Given the description of an element on the screen output the (x, y) to click on. 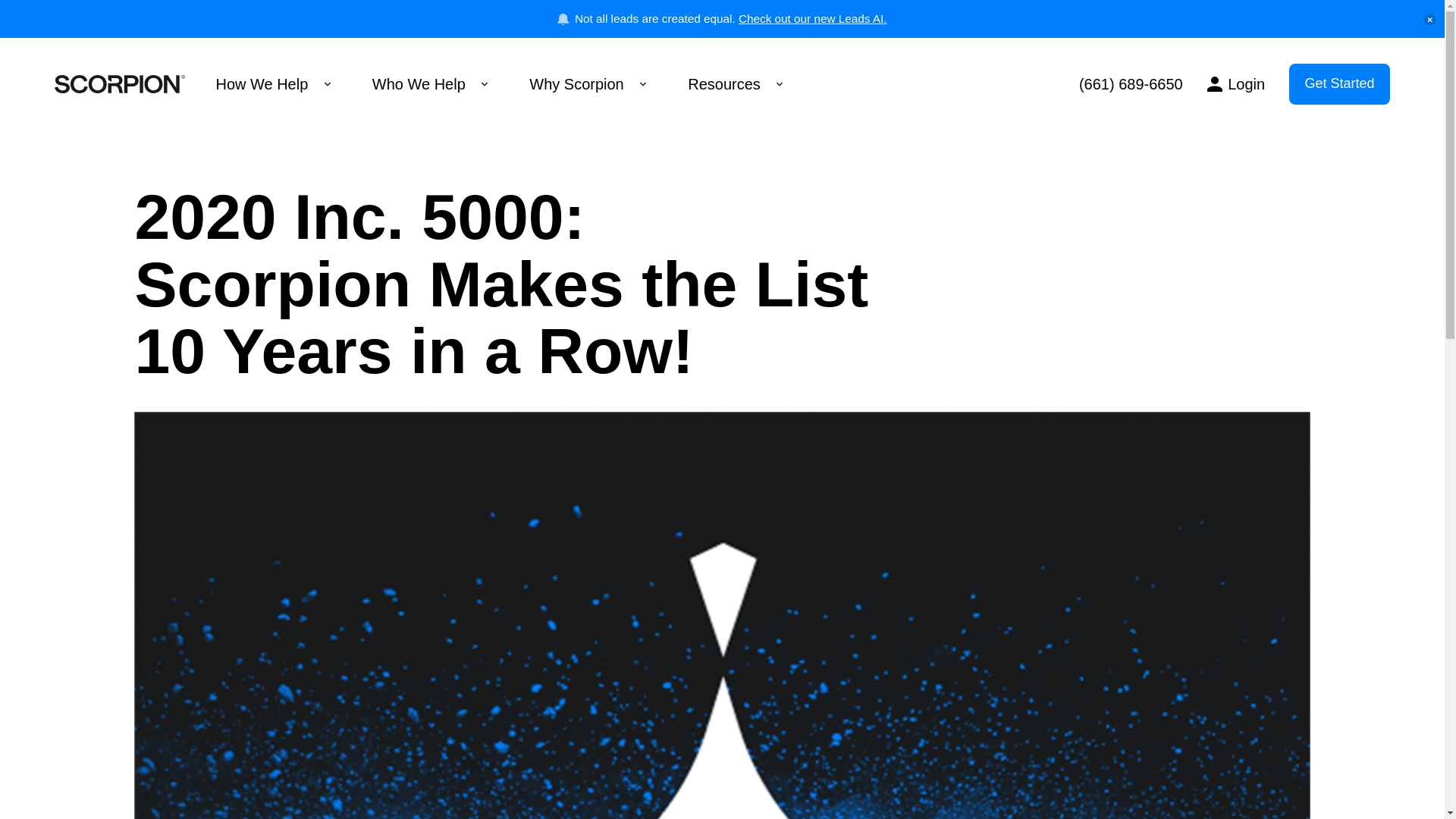
Check out our new Leads AI. (812, 18)
Home (119, 84)
How We Help (272, 84)
Who We Help (429, 84)
